Given the description of an element on the screen output the (x, y) to click on. 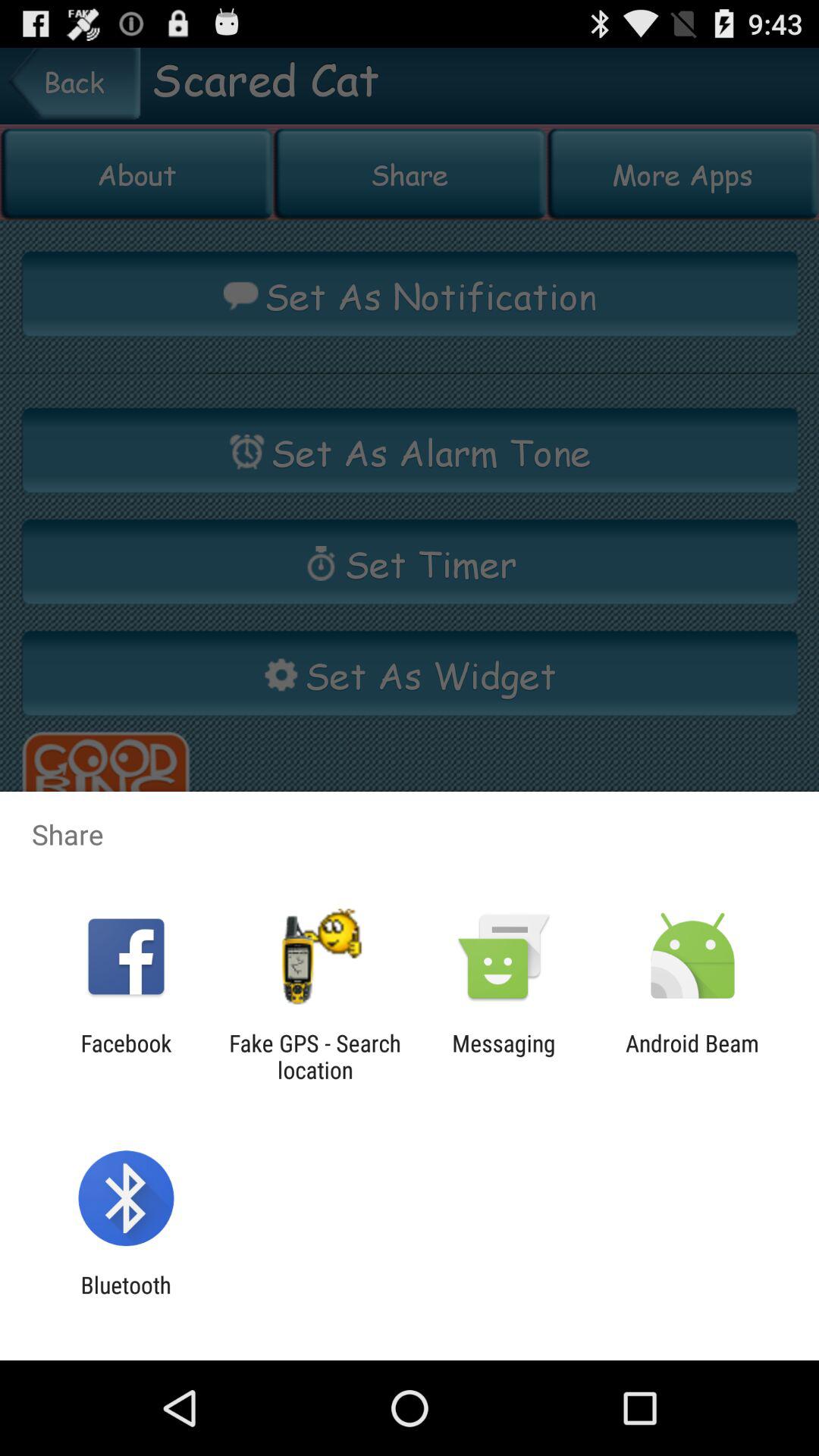
swipe to the facebook item (125, 1056)
